Given the description of an element on the screen output the (x, y) to click on. 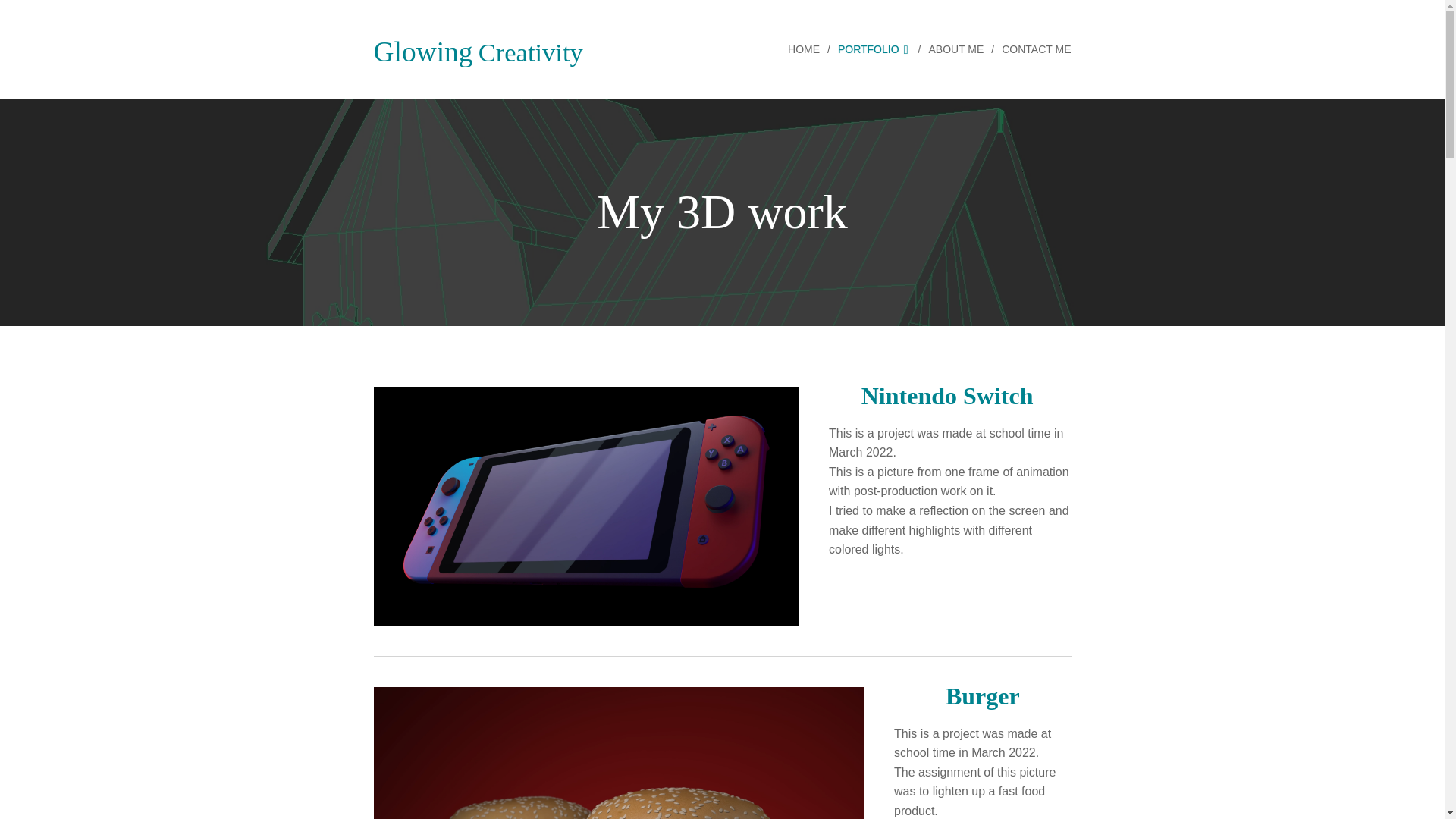
Glowing Creativity (477, 49)
ABOUT ME (957, 48)
HOME (806, 48)
CONTACT ME (1032, 48)
PORTFOLIO (875, 48)
